Given the description of an element on the screen output the (x, y) to click on. 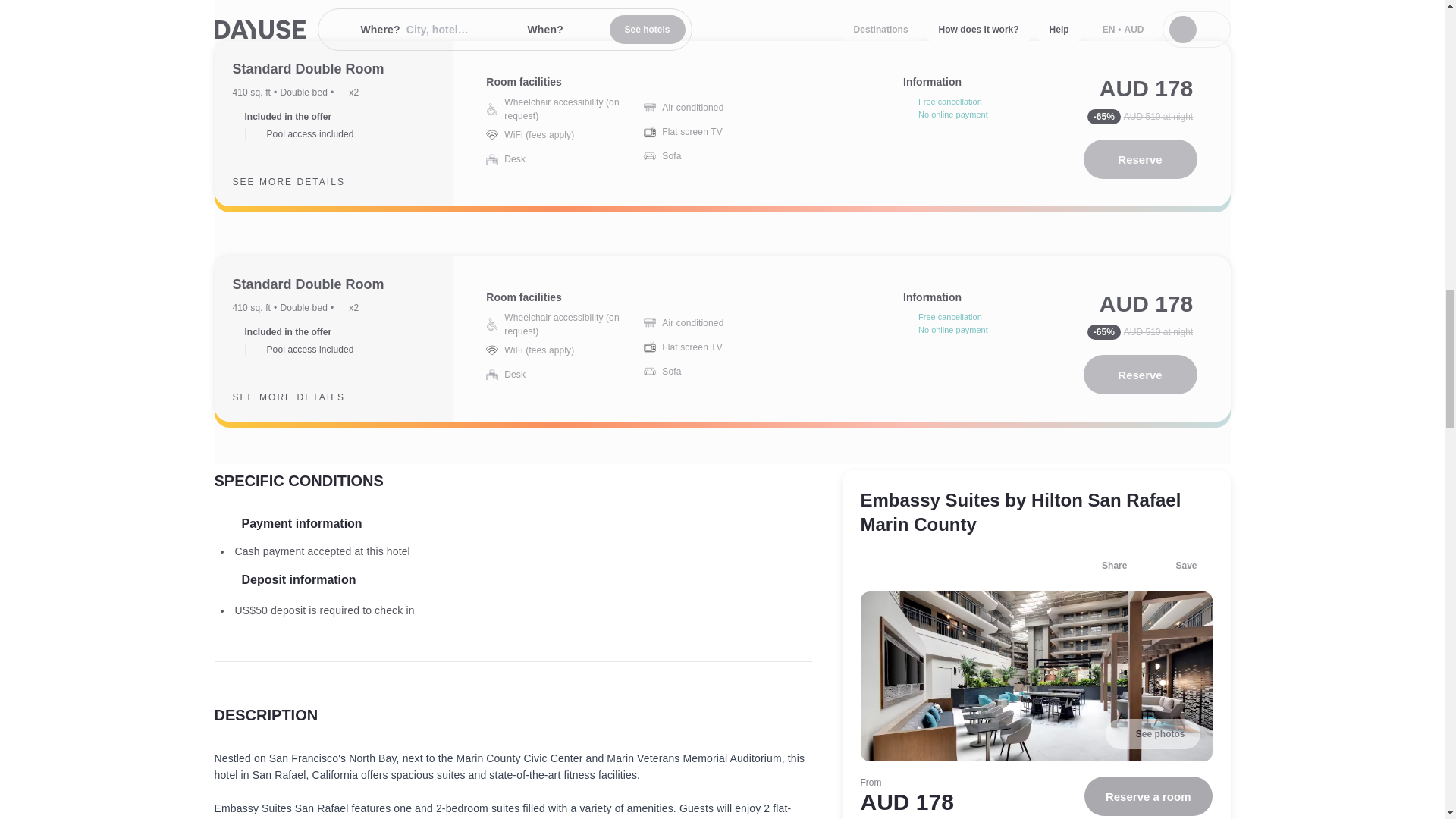
Reserve (1139, 159)
SEE MORE DETAILS (300, 397)
SEE MORE DETAILS (300, 181)
